Given the description of an element on the screen output the (x, y) to click on. 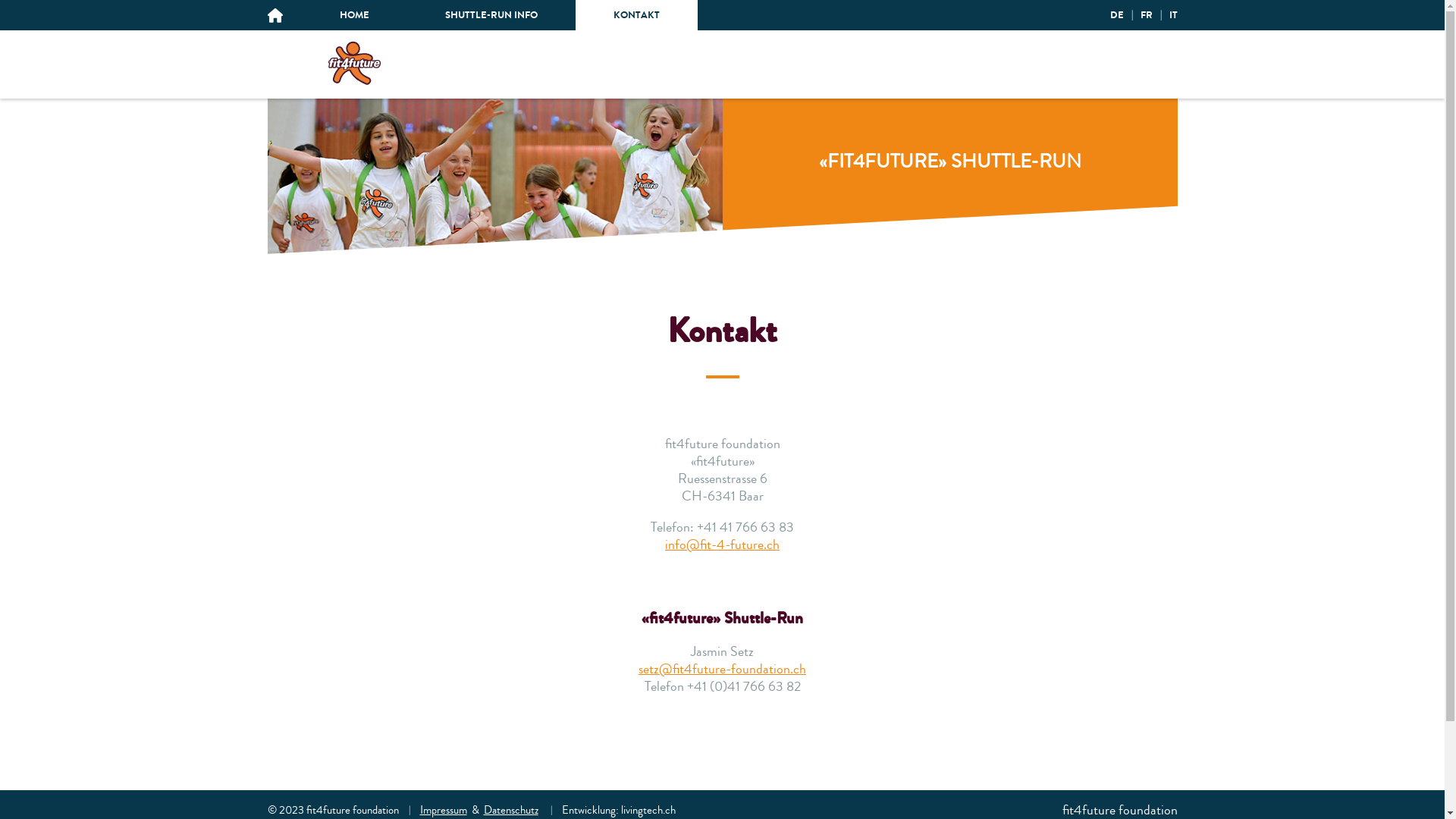
+41 41 766 63 83 Element type: text (744, 526)
IT Element type: text (1173, 14)
Entwicklung: livingtech.ch Element type: text (617, 809)
setz@fit4future-foundation.ch Element type: text (722, 668)
DE Element type: text (1116, 14)
Home Element type: hover (353, 62)
+41 (0)41 766 63 82 Element type: text (743, 686)
SHUTTLE-RUN INFO Element type: text (490, 14)
info@fit-4-future.ch Element type: text (722, 544)
Impressum Element type: text (443, 809)
Datenschutz Element type: text (510, 809)
KONTAKT Element type: text (635, 14)
FR Element type: text (1146, 14)
Home Element type: hover (353, 84)
HOME Element type: text (354, 14)
